Given the description of an element on the screen output the (x, y) to click on. 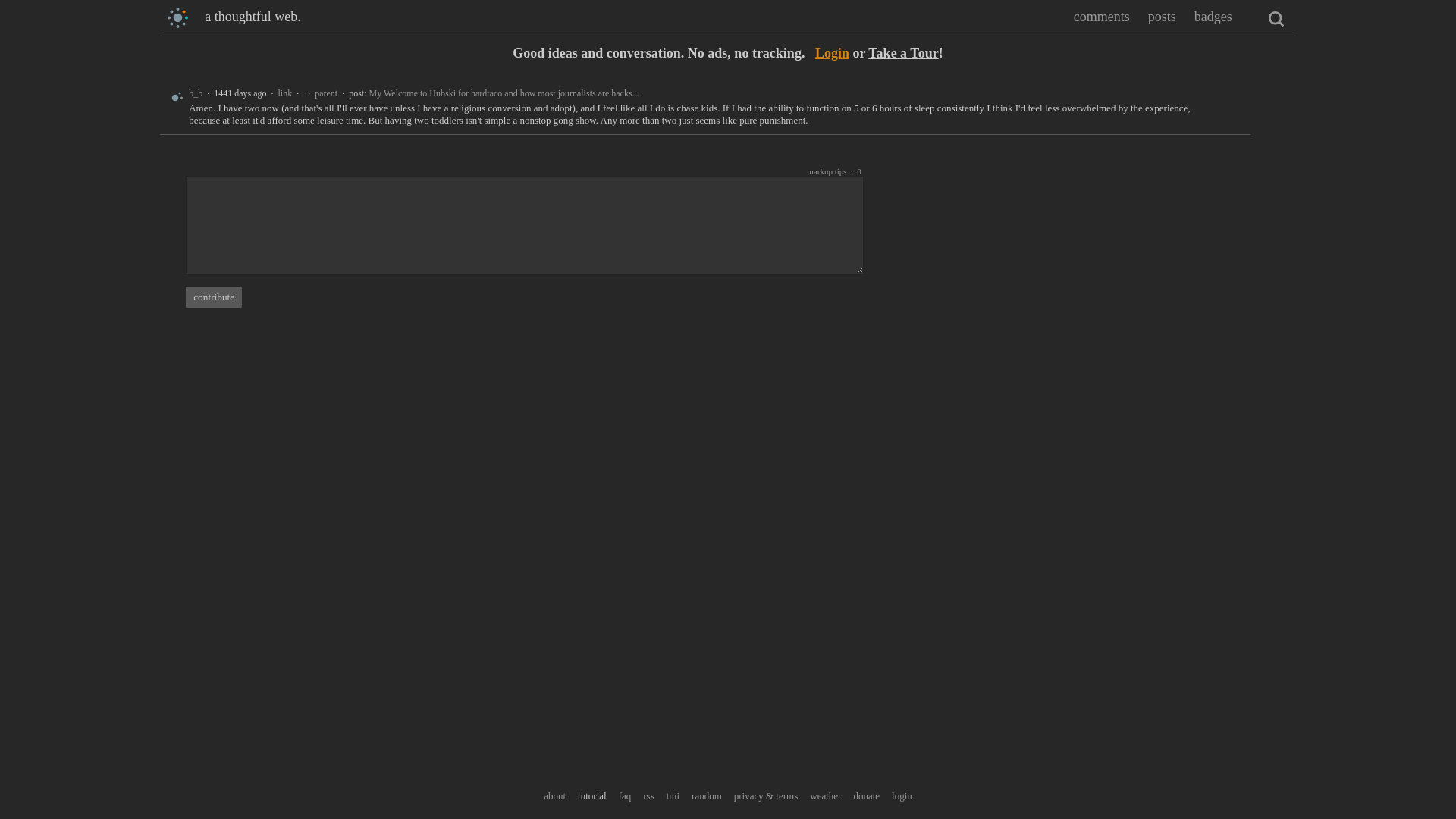
parent (325, 92)
contribute (213, 296)
random (706, 795)
Take a Tour (902, 52)
weather (825, 795)
link (285, 92)
login (901, 795)
badges (1212, 16)
searchbox (1276, 18)
tmi (672, 795)
